Given the description of an element on the screen output the (x, y) to click on. 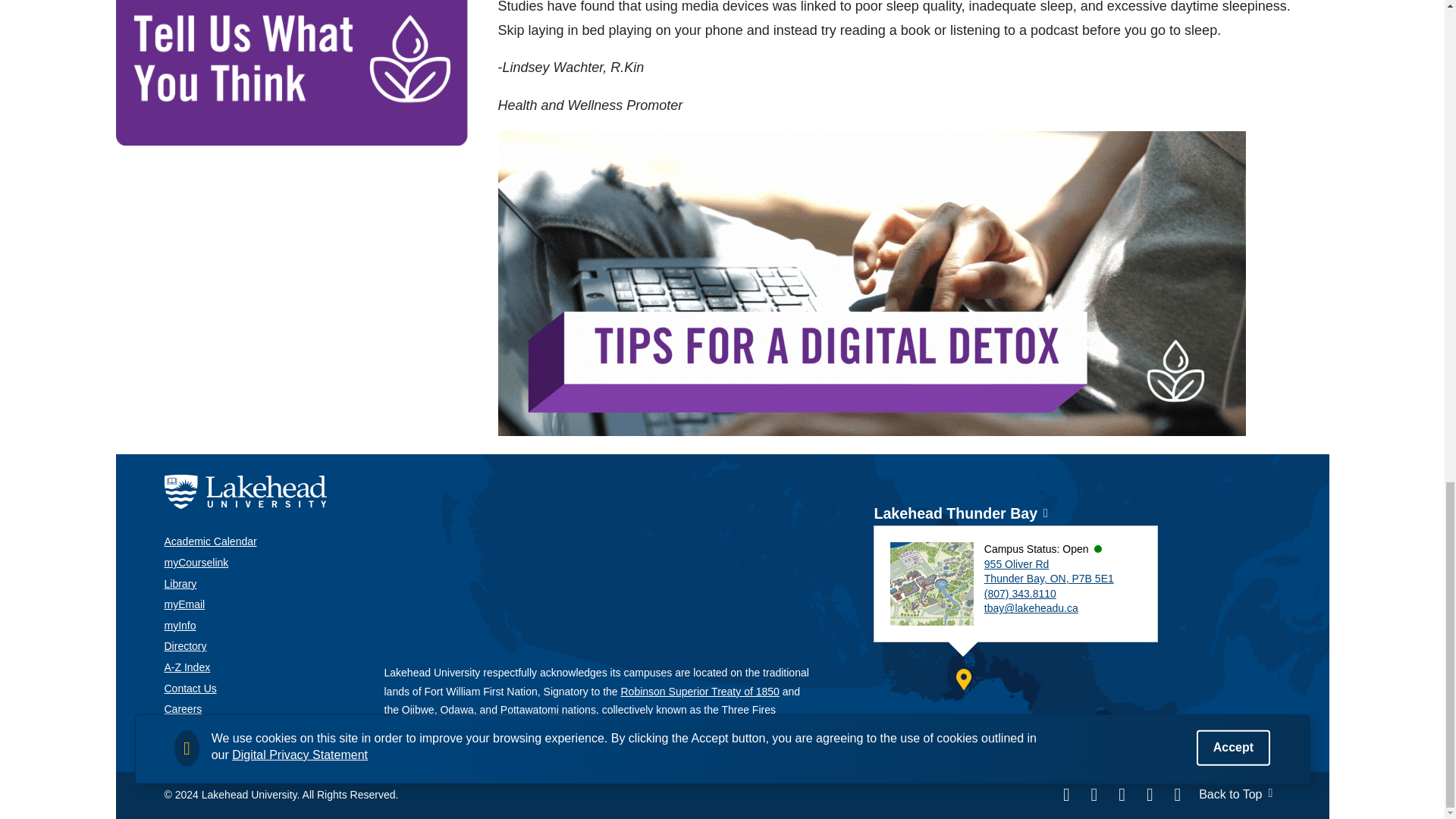
Lakehead Thunder Bay (954, 513)
